Given the description of an element on the screen output the (x, y) to click on. 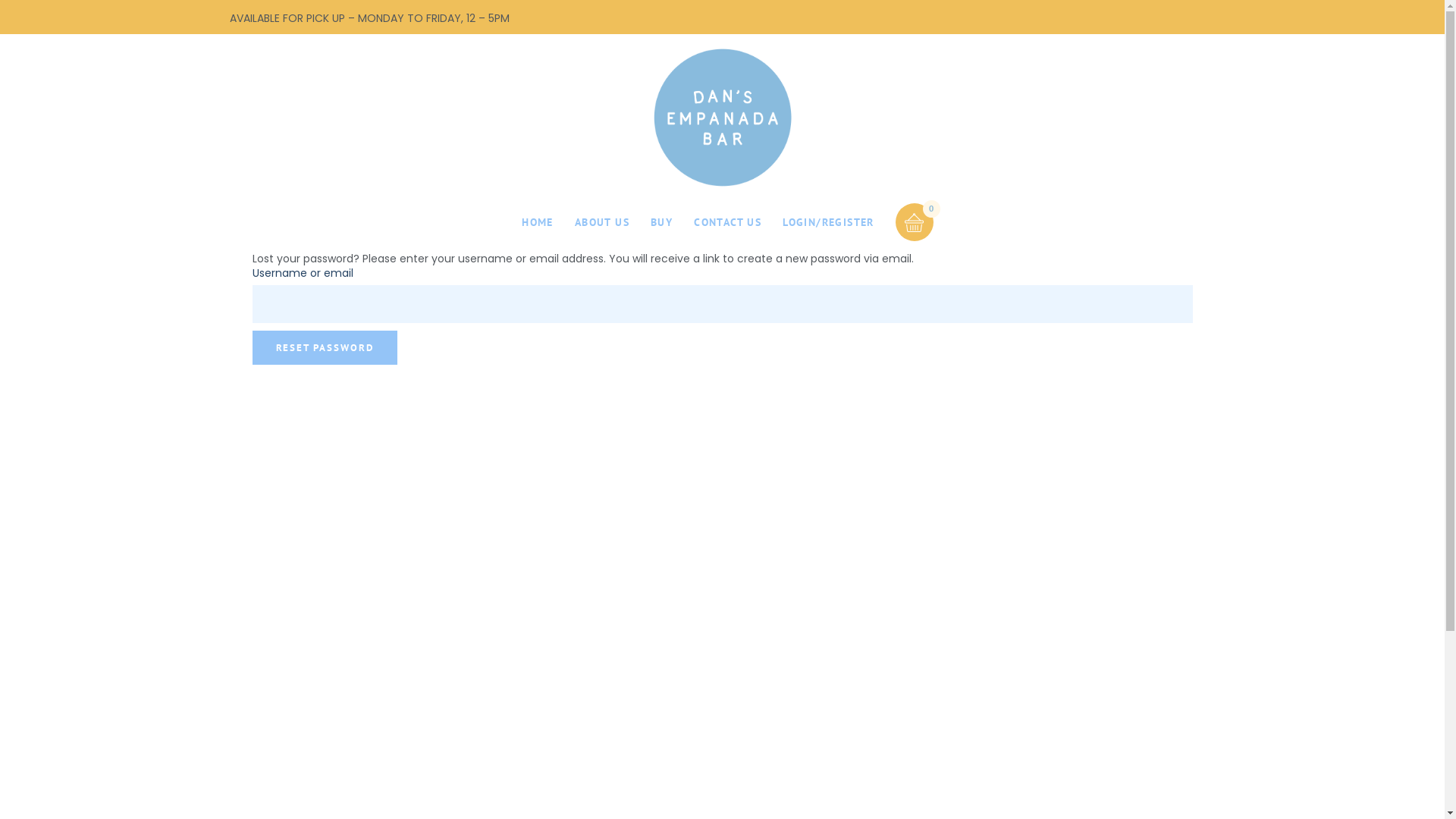
HOME Element type: text (537, 222)
ABOUT US Element type: text (601, 222)
BUY Element type: text (661, 222)
CONTACT US Element type: text (727, 222)
LOGIN/REGISTER Element type: text (828, 222)
RESET PASSWORD Element type: text (323, 347)
